Given the description of an element on the screen output the (x, y) to click on. 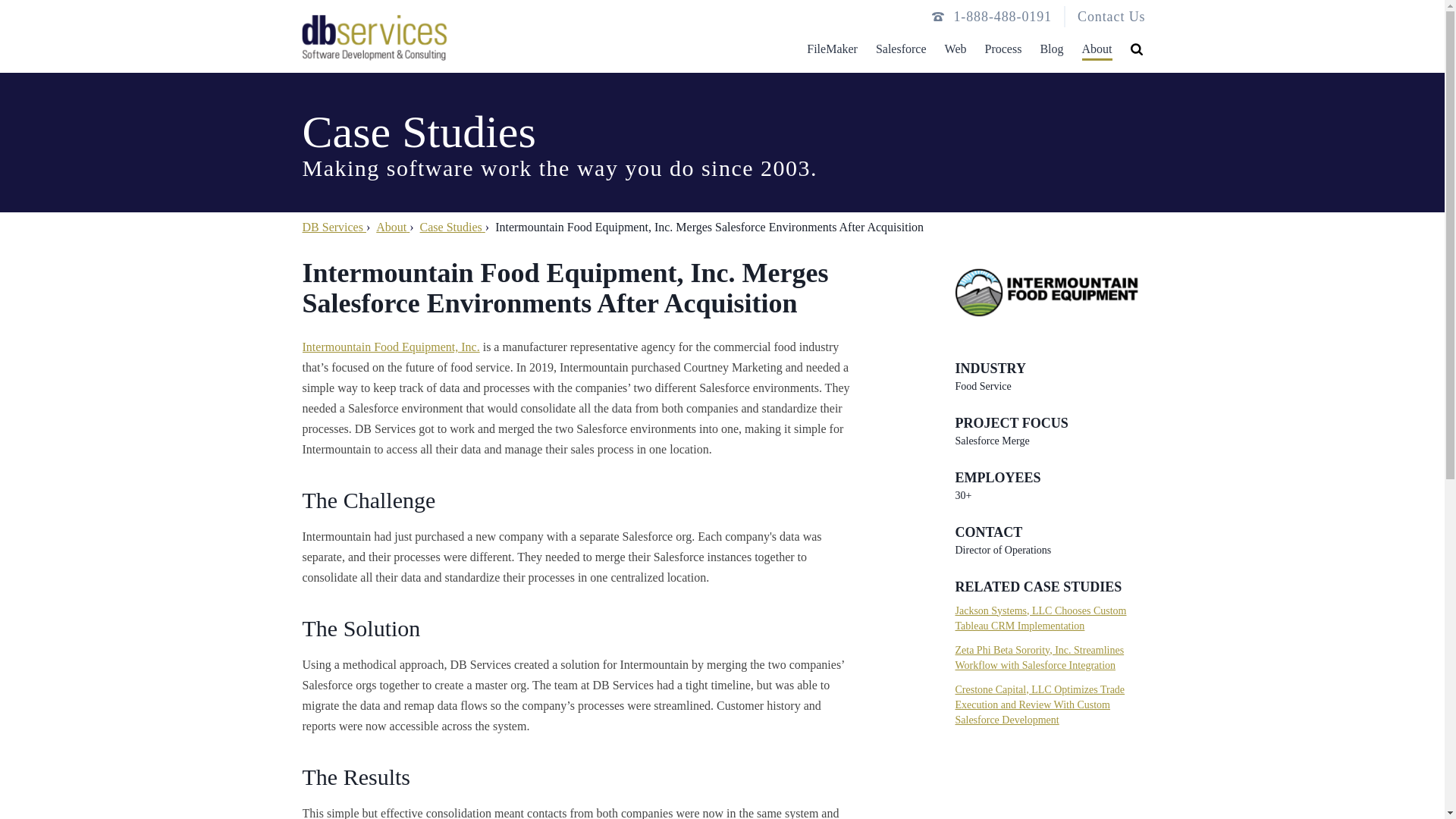
Salesforce (901, 45)
Contact Us (1111, 16)
1-888-488-0191 (1002, 16)
FileMaker (831, 45)
